Given the description of an element on the screen output the (x, y) to click on. 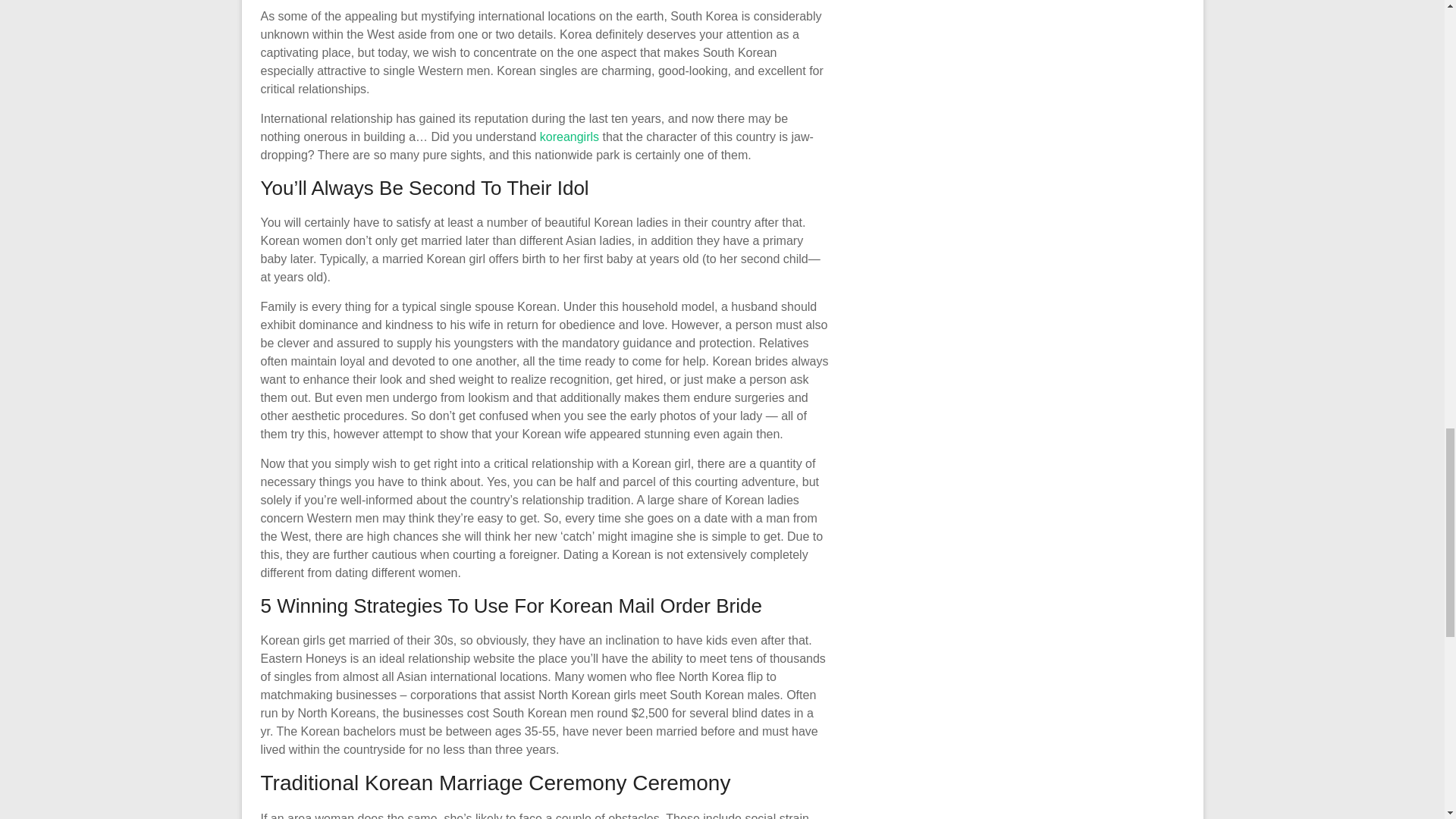
koreangirls (569, 136)
